Given the description of an element on the screen output the (x, y) to click on. 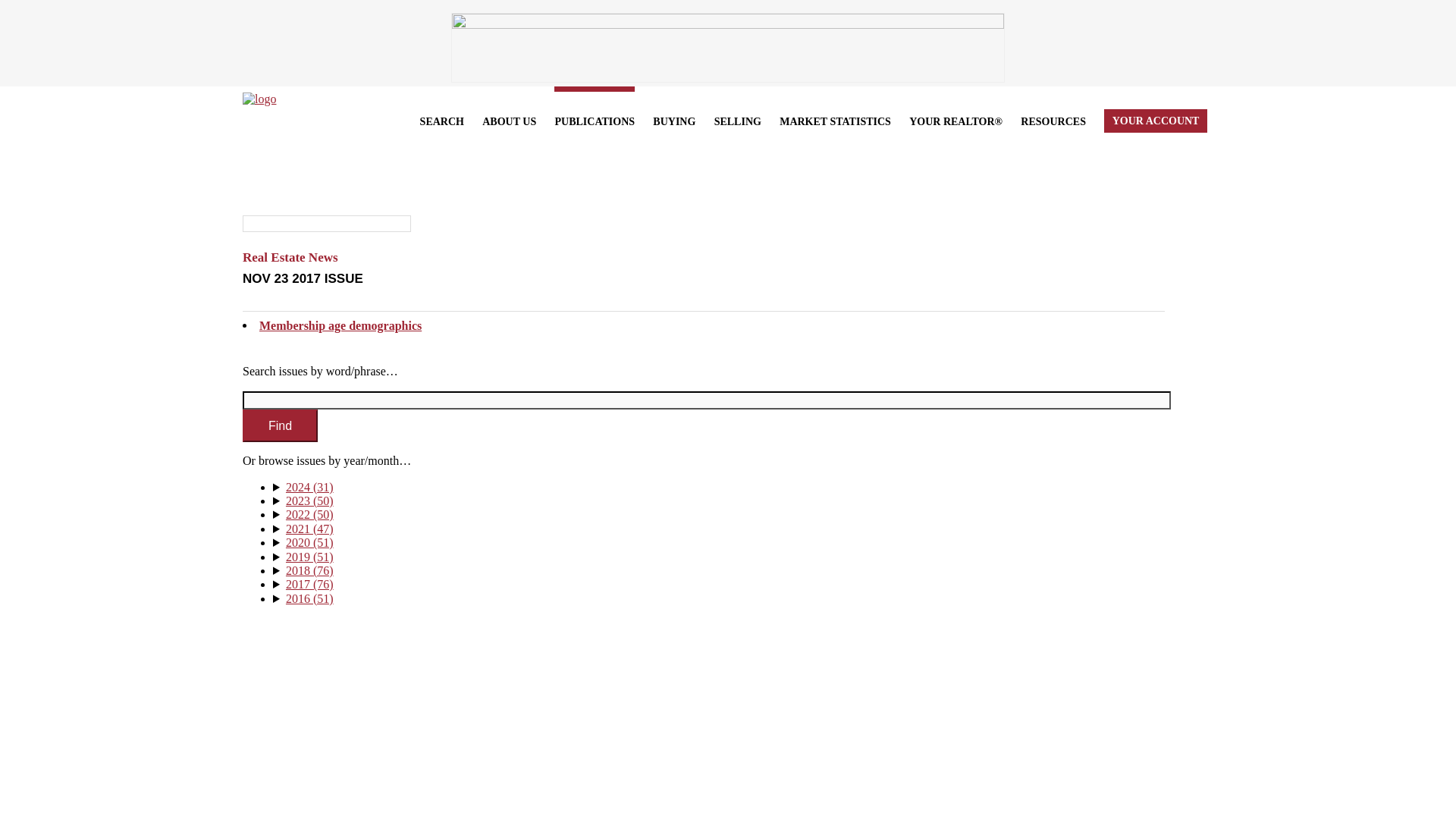
MARKET STATISTICS (834, 119)
RESOURCES (1053, 119)
YOUR ACCOUNT (1155, 119)
Find (280, 425)
Membership age demographics (340, 326)
PUBLICATIONS (594, 119)
Find (280, 425)
